Given the description of an element on the screen output the (x, y) to click on. 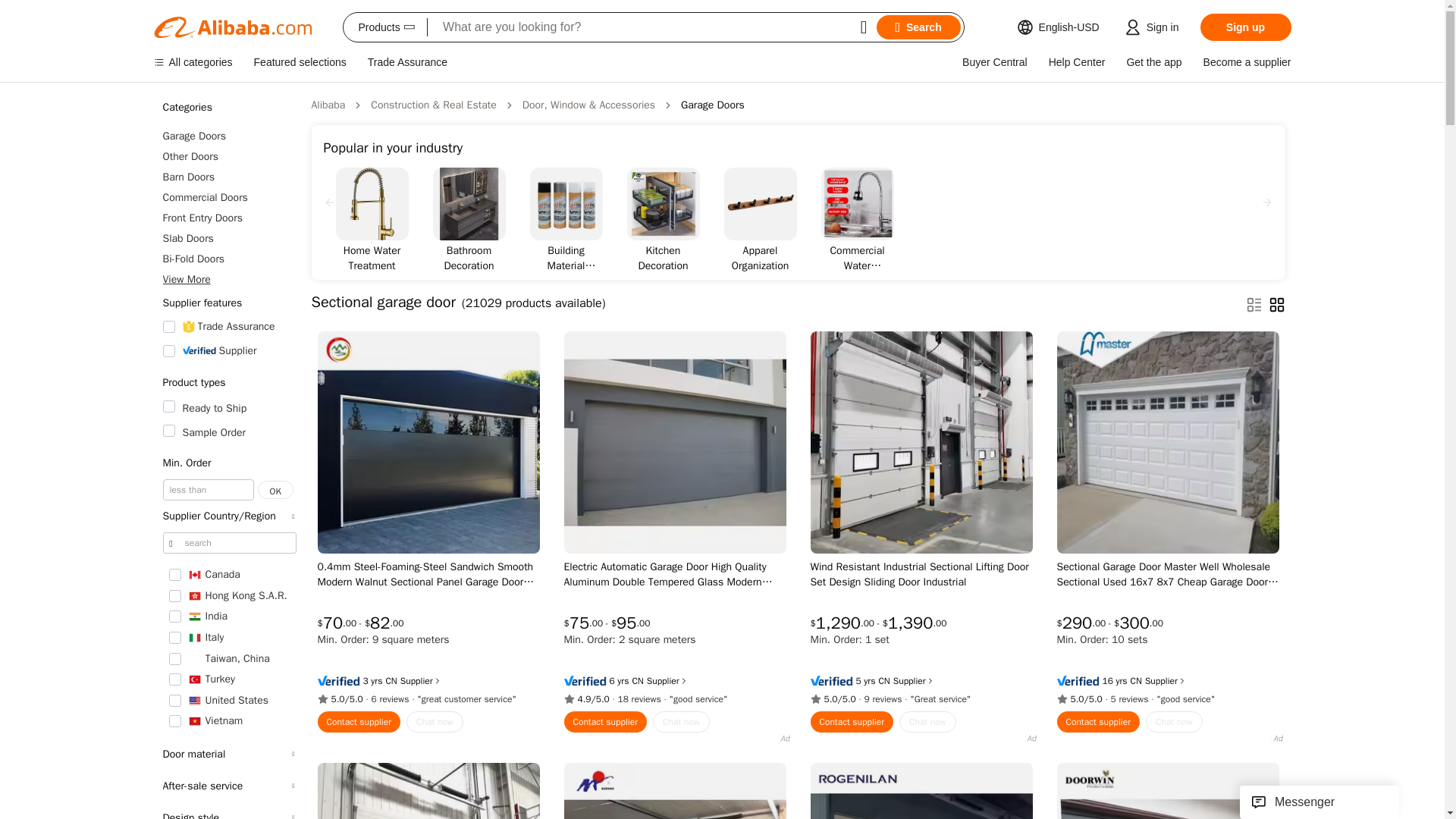
Garage Doors (228, 135)
Categories (228, 107)
Barn Doors (228, 176)
